Given the description of an element on the screen output the (x, y) to click on. 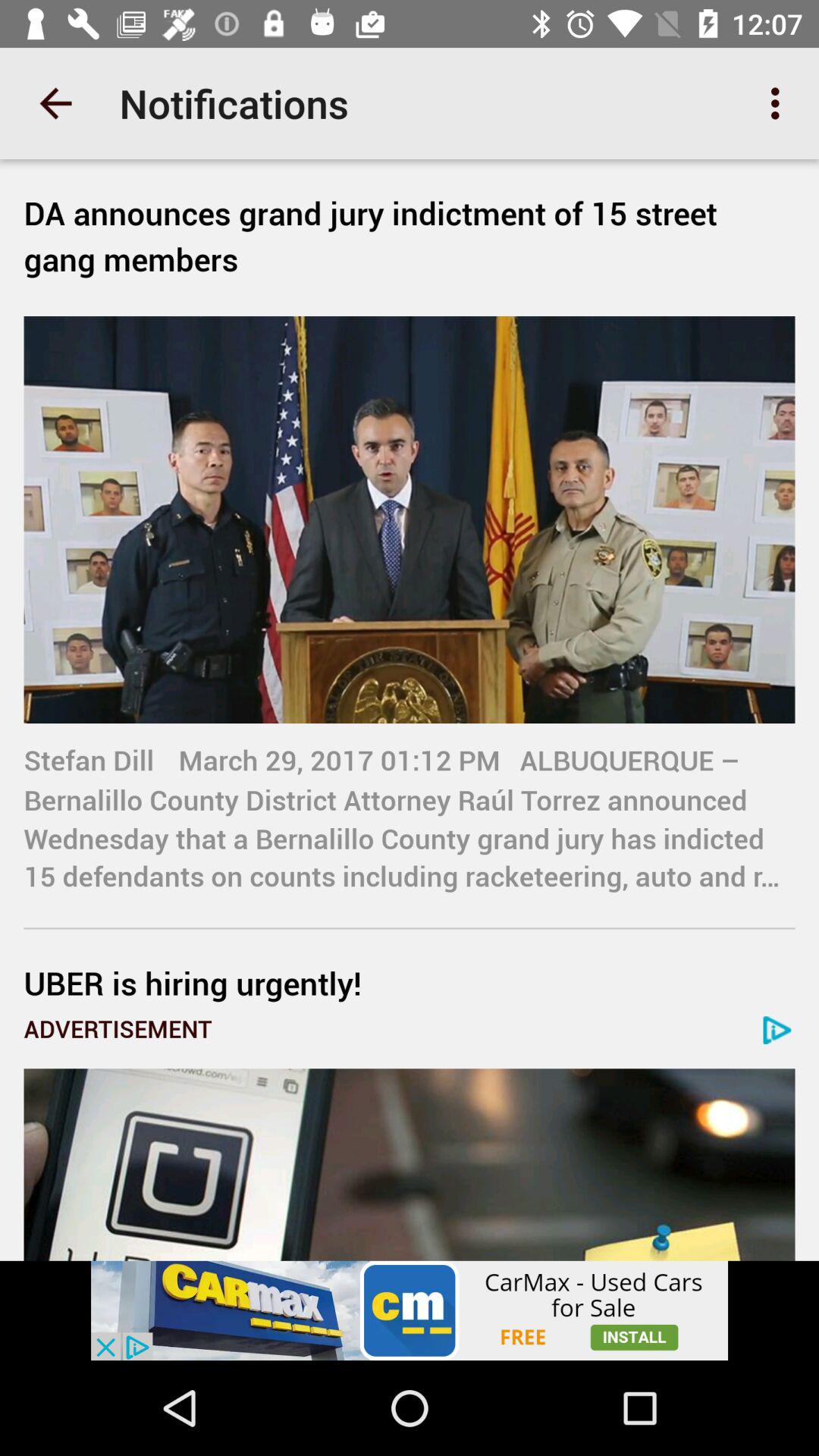
press to view advertisement (409, 1310)
